Given the description of an element on the screen output the (x, y) to click on. 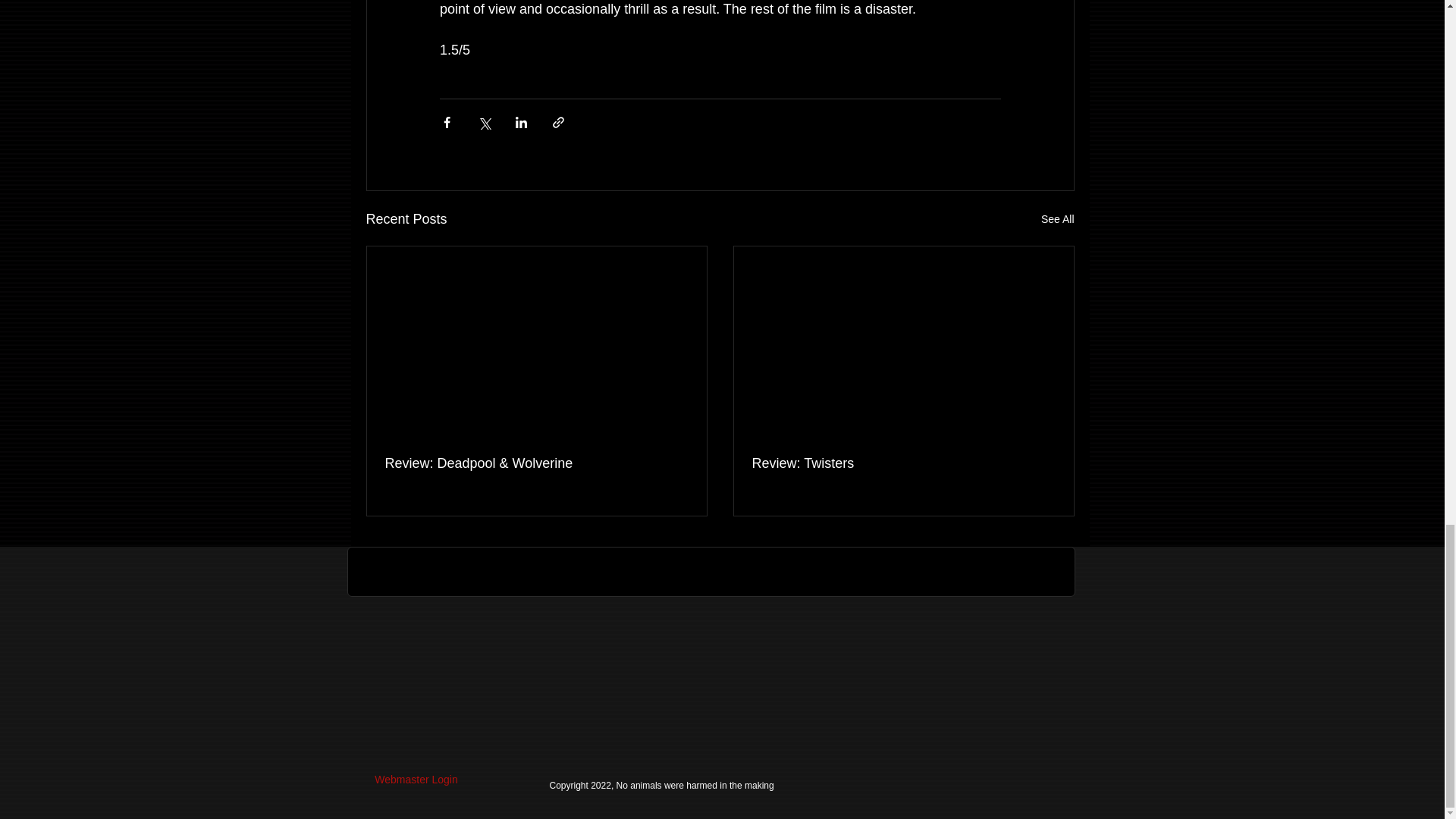
See All (1057, 219)
Webmaster Login (415, 779)
Review: Twisters (903, 463)
